Given the description of an element on the screen output the (x, y) to click on. 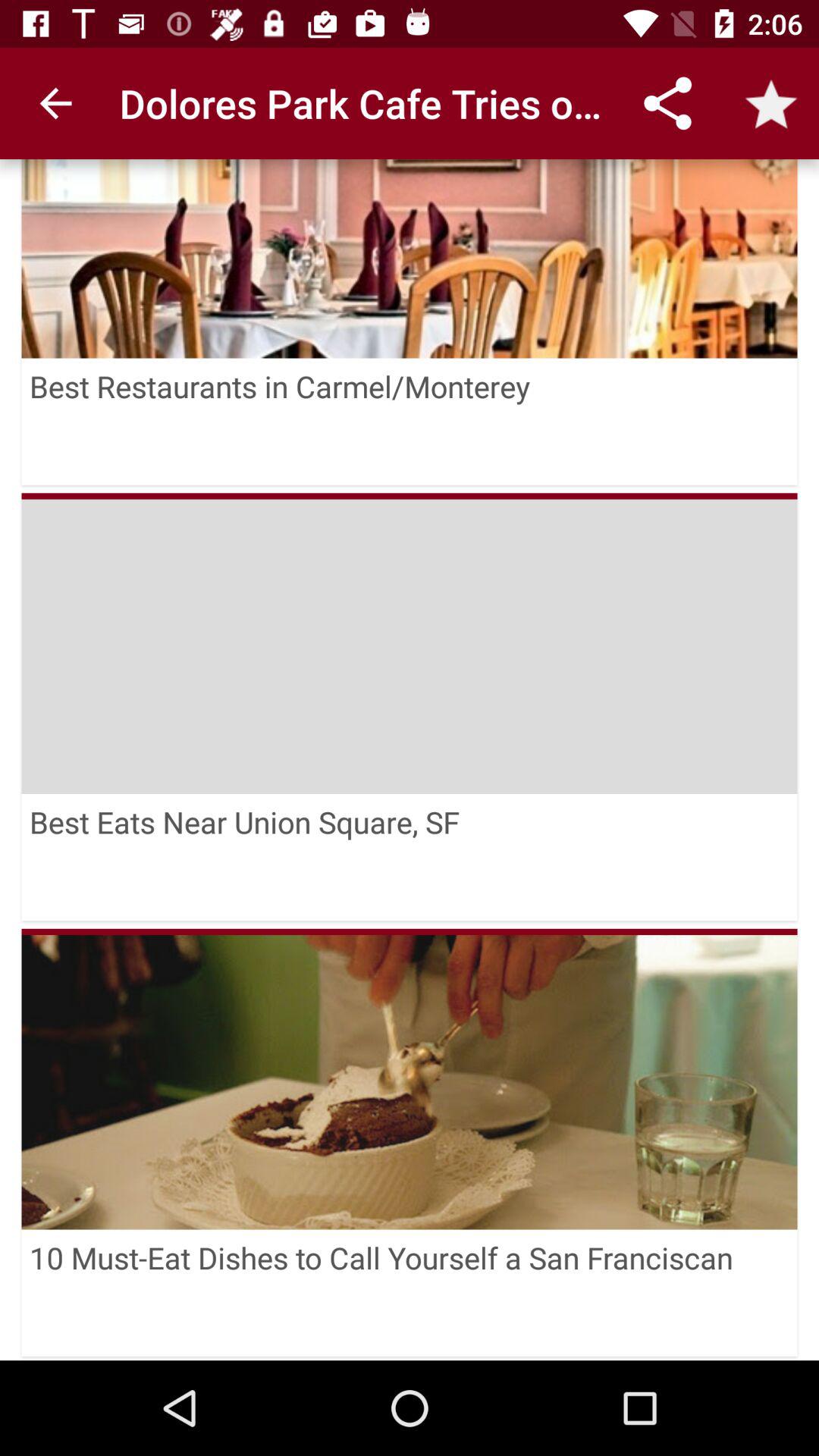
turn off the icon below the best eats near icon (409, 931)
